Given the description of an element on the screen output the (x, y) to click on. 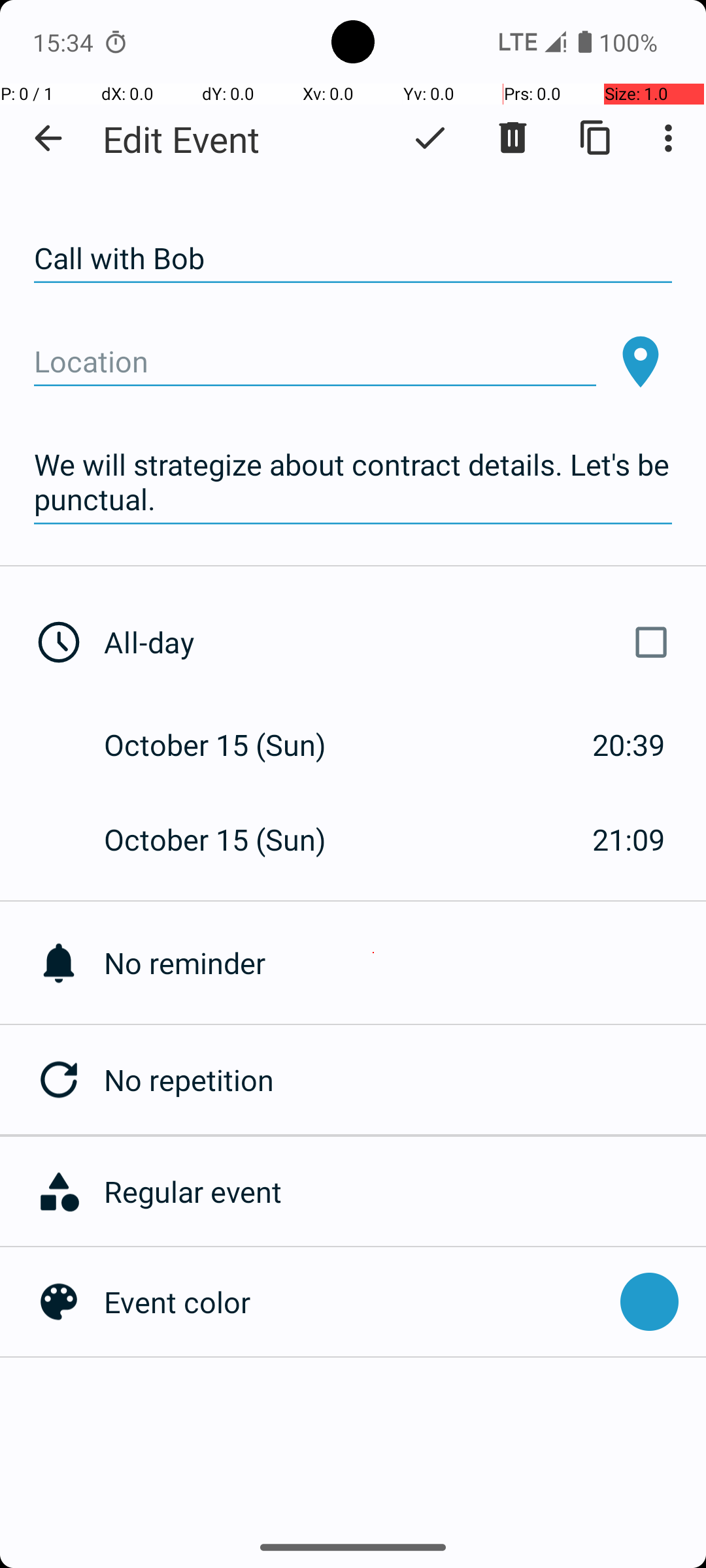
We will strategize about contract details. Let's be punctual. Element type: android.widget.EditText (352, 482)
20:39 Element type: android.widget.TextView (628, 744)
21:09 Element type: android.widget.TextView (628, 838)
